Given the description of an element on the screen output the (x, y) to click on. 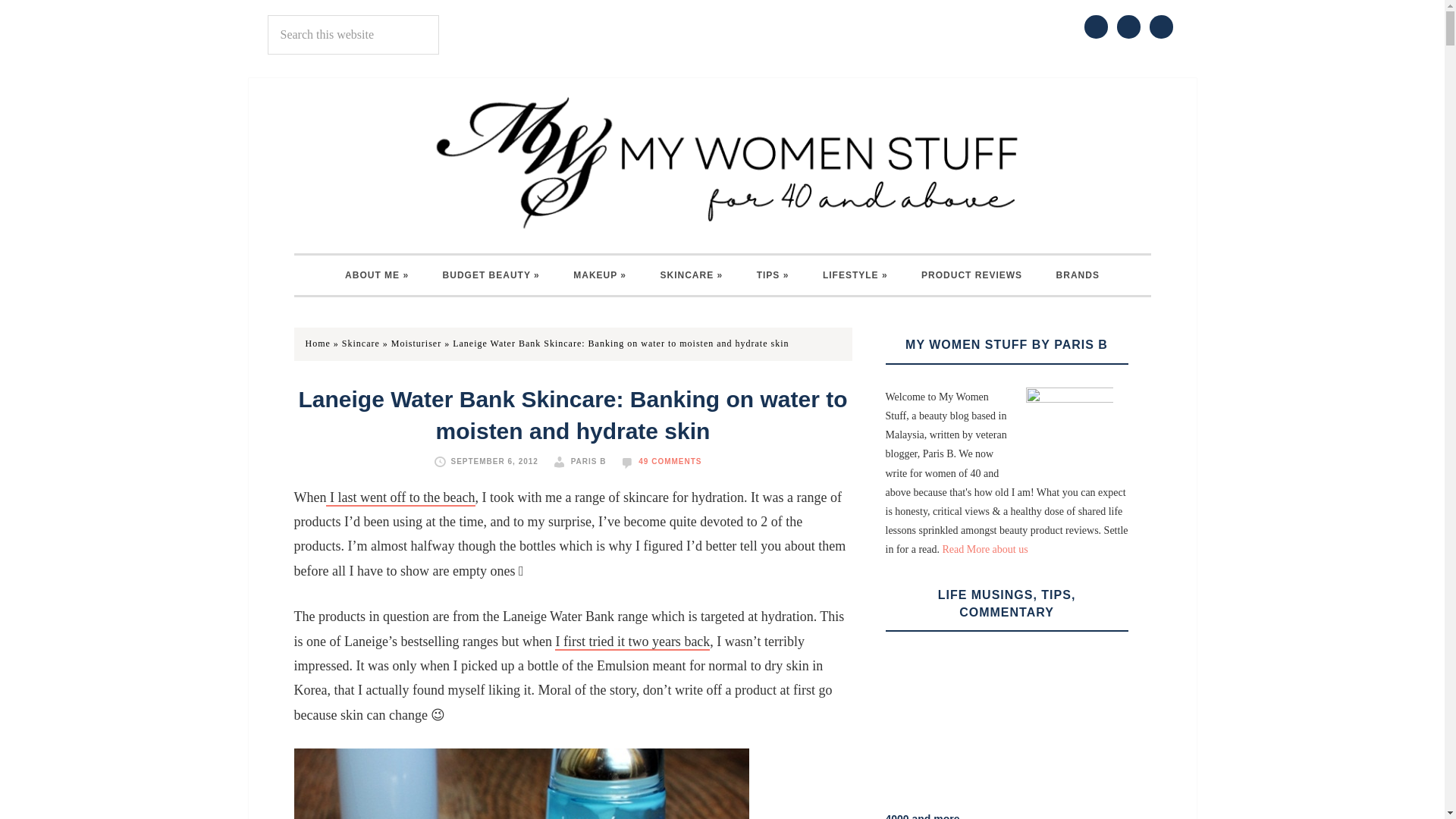
My Women Stuff (722, 161)
About Me (376, 274)
Beauty on a Budget (491, 274)
Click for all Skincare Reiews (691, 274)
Tips and Tricks (773, 274)
